Given the description of an element on the screen output the (x, y) to click on. 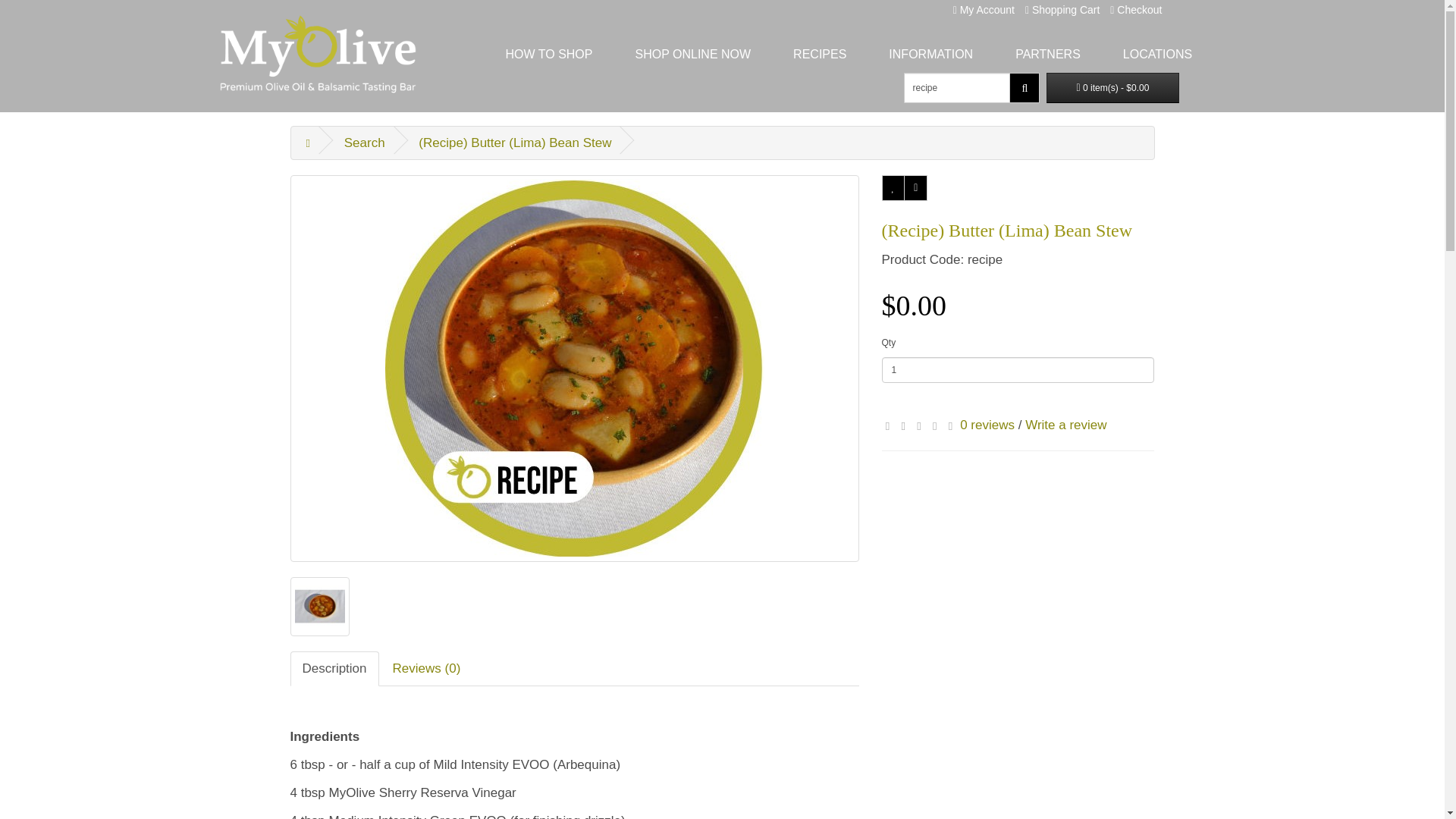
Shopping Cart (1062, 9)
LOCATIONS (1157, 54)
My Account (983, 9)
PARTNERS (1047, 54)
Checkout (1135, 9)
Shopping Cart (1062, 9)
1 (1017, 370)
SHOP ONLINE NOW (692, 54)
HOW TO SHOP (548, 54)
Search (364, 142)
recipe (957, 87)
INFORMATION (931, 54)
My Account (983, 9)
Checkout (1135, 9)
RECIPES (819, 54)
